Given the description of an element on the screen output the (x, y) to click on. 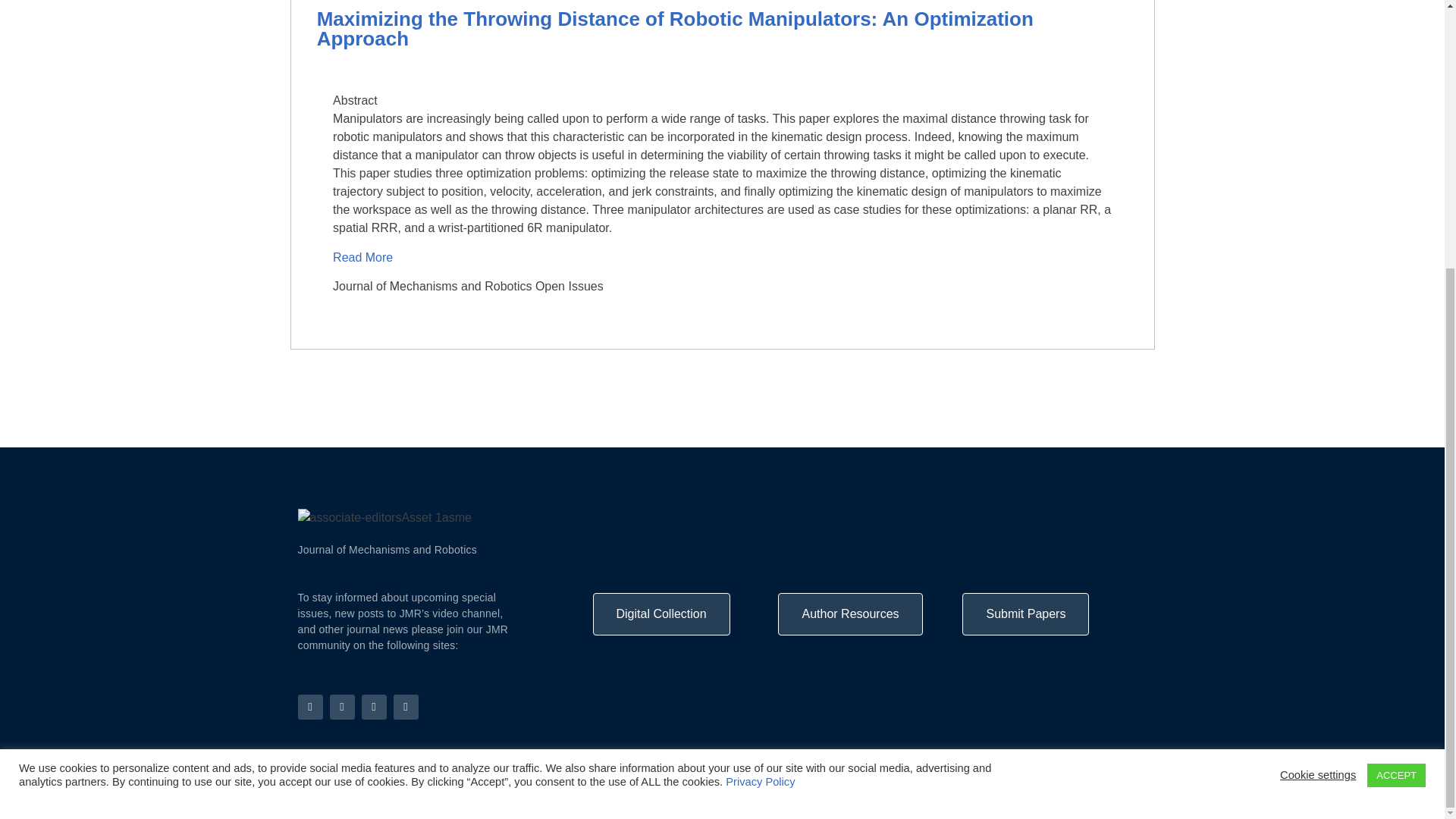
Cookie settings (1317, 383)
Privacy Policy (759, 390)
Privacy Policy (1118, 799)
Author Resources (849, 613)
ACCEPT (1396, 383)
Digital Collection (661, 613)
Submit Papers (1025, 613)
associate-editorsAsset 1asme (383, 517)
Read More (363, 256)
